Given the description of an element on the screen output the (x, y) to click on. 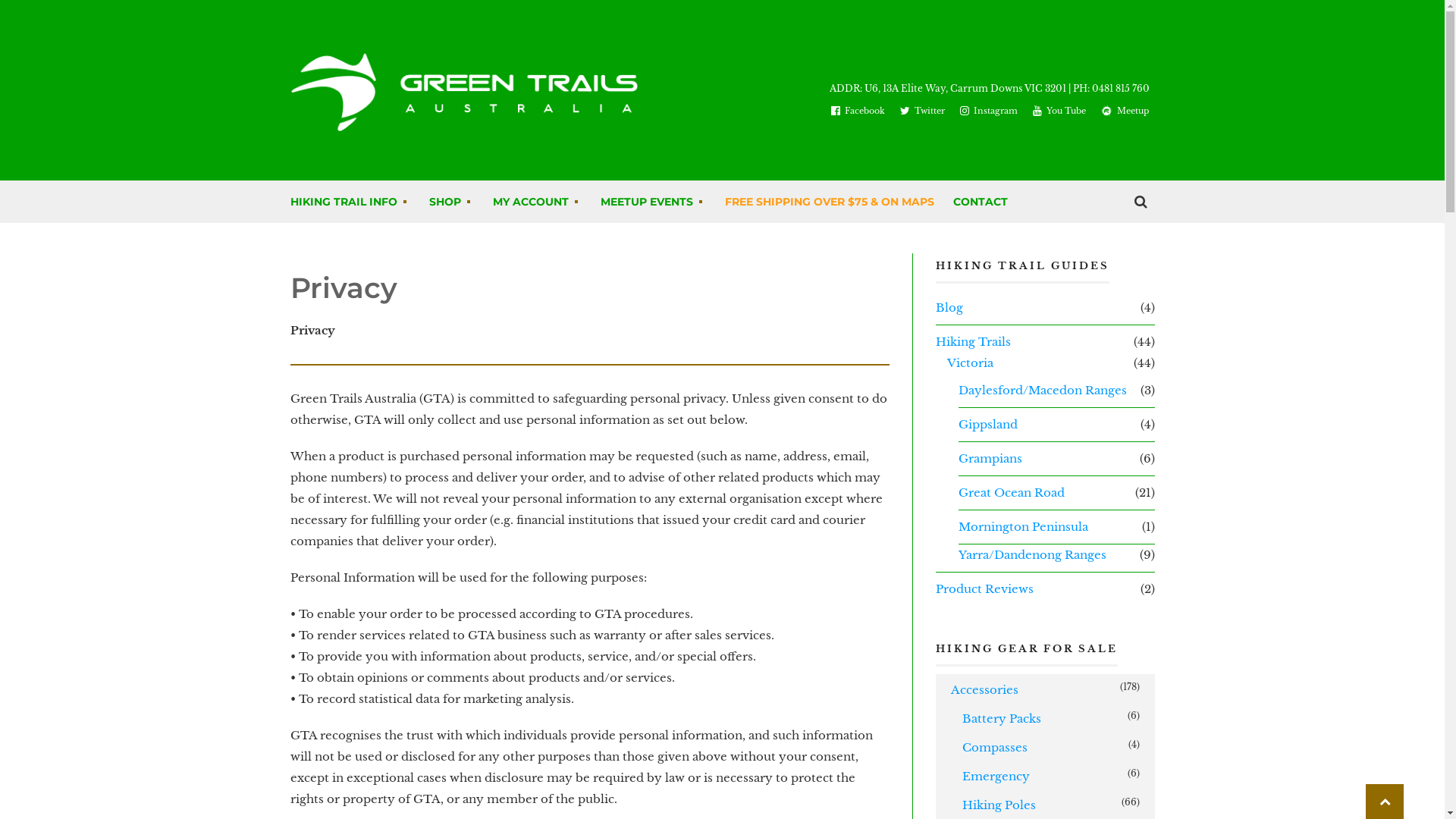
Gippsland Element type: text (987, 424)
Daylesford/Macedon Ranges Element type: text (1042, 390)
Battery Packs Element type: text (1001, 718)
You Tube Element type: text (1059, 110)
Accessories Element type: text (984, 689)
Victoria Element type: text (970, 362)
CONTACT Element type: text (979, 201)
SHOP Element type: text (451, 201)
Instagram Element type: text (988, 110)
FREE SHIPPING OVER $75 & ON MAPS Element type: text (829, 201)
MY ACCOUNT Element type: text (536, 201)
Facebook Element type: text (858, 110)
Grampians Element type: text (990, 458)
Blog Element type: text (949, 307)
Product Reviews Element type: text (984, 588)
Yarra/Dandenong Ranges Element type: text (1032, 554)
Emergency Element type: text (995, 776)
Compasses Element type: text (994, 747)
Twitter Element type: text (921, 110)
Great Ocean Road Element type: text (1011, 492)
Mornington Peninsula Element type: text (1023, 526)
Hiking Trails Element type: text (972, 341)
Meetup Element type: text (1124, 110)
HIKING TRAIL INFO Element type: text (349, 201)
MEETUP EVENTS Element type: text (653, 201)
